Given the description of an element on the screen output the (x, y) to click on. 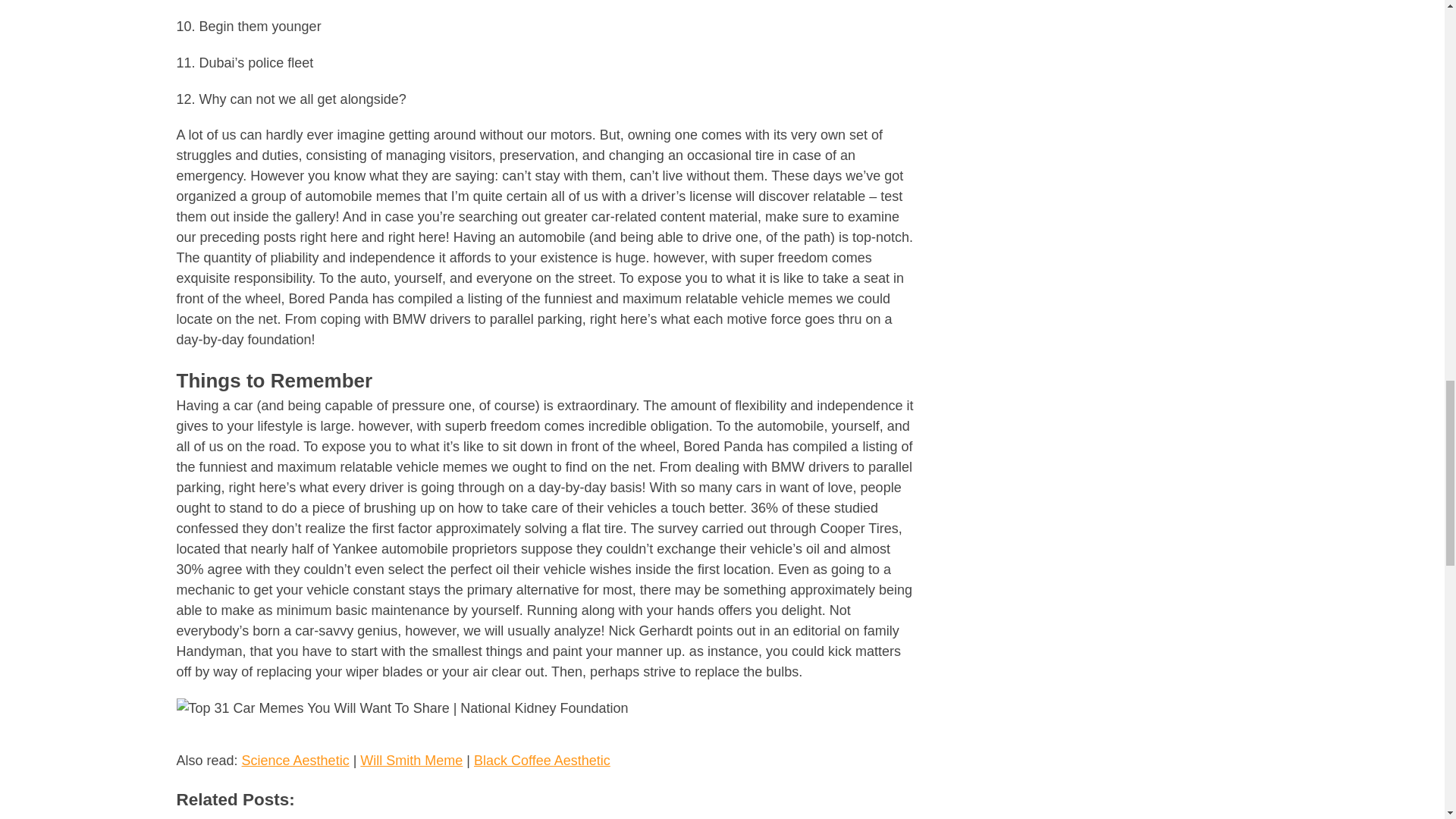
Black Coffee Aesthetic (542, 760)
Will Smith Meme (411, 760)
Science Aesthetic (295, 760)
